Given the description of an element on the screen output the (x, y) to click on. 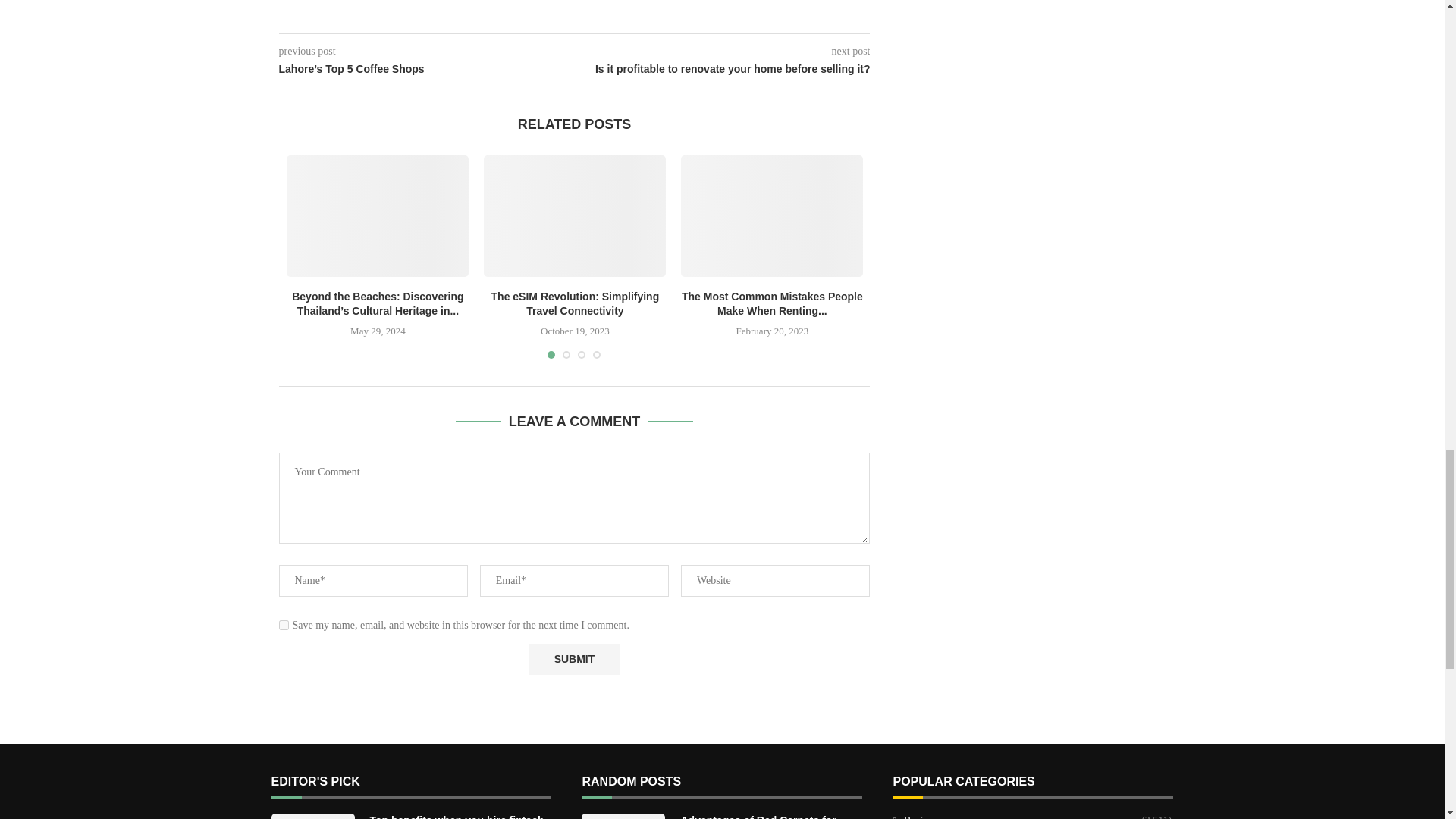
Is it profitable to renovate your home before selling it? (722, 69)
The Most Common Mistakes People Make When Renting a Car (772, 215)
Submit (574, 658)
yes (283, 624)
The eSIM Revolution: Simplifying Travel Connectivity (574, 215)
